Given the description of an element on the screen output the (x, y) to click on. 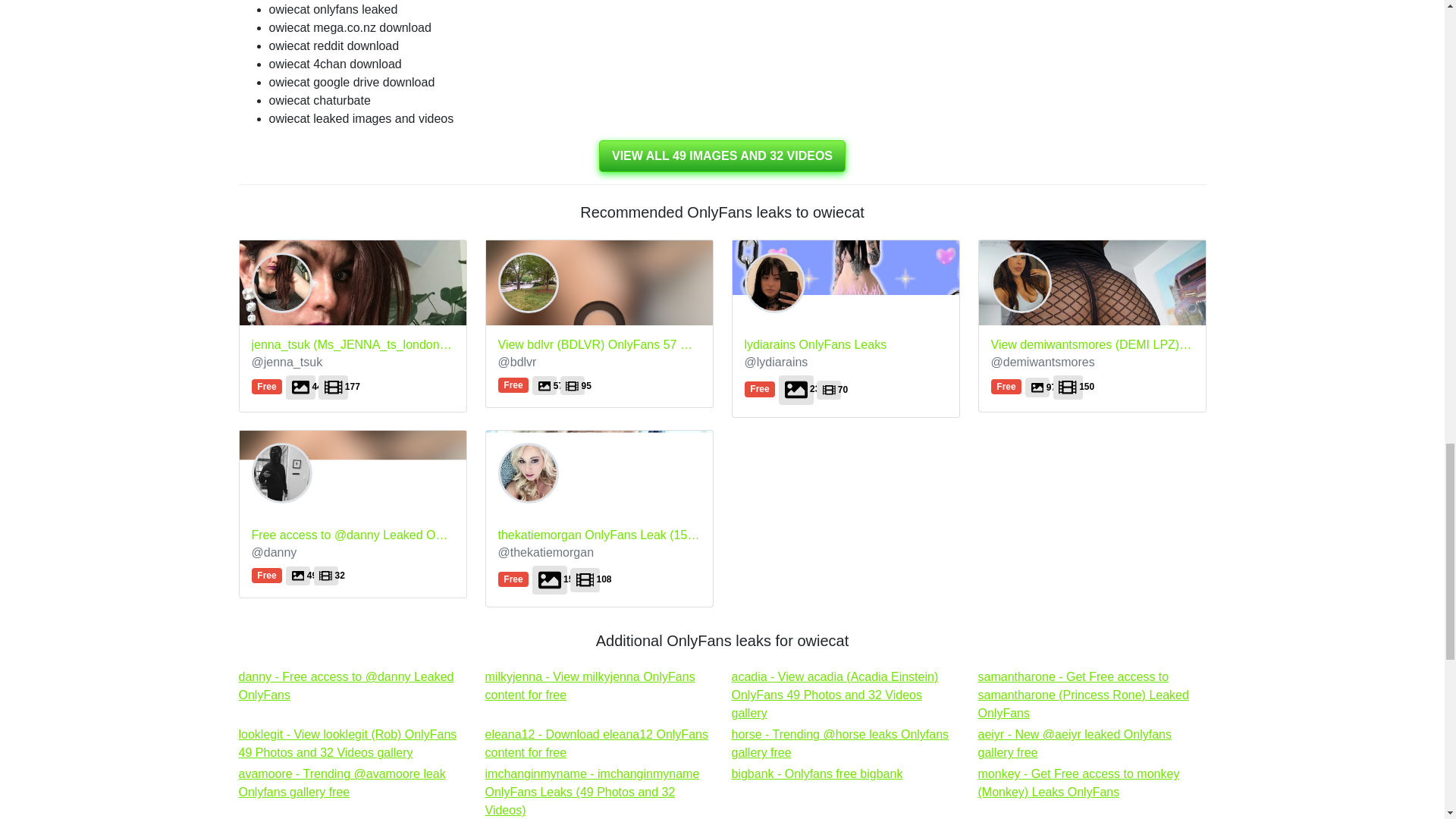
milkyjenna - View milkyjenna OnlyFans content for free (595, 743)
bigbank - Onlyfans free bigbank (589, 685)
eleana12 - Download eleana12 OnlyFans content for free (816, 773)
VIEW ALL 49 IMAGES AND 32 VIDEOS (595, 743)
